Given the description of an element on the screen output the (x, y) to click on. 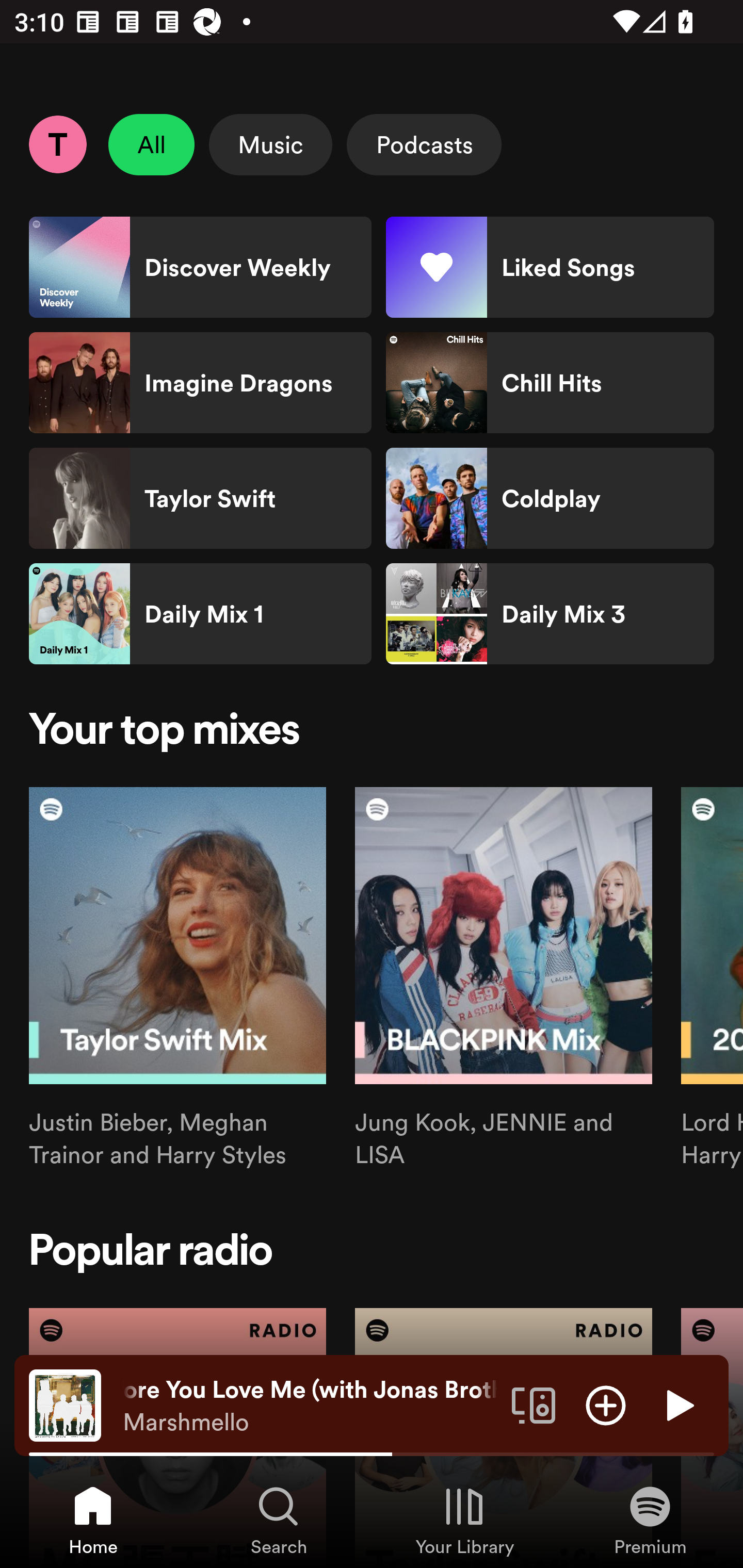
Profile (57, 144)
All Unselect All (151, 144)
Music Select Music (270, 144)
Podcasts Select Podcasts (423, 144)
Discover Weekly Shortcut Discover Weekly (199, 267)
Liked Songs Shortcut Liked Songs (549, 267)
Imagine Dragons Shortcut Imagine Dragons (199, 382)
Chill Hits Shortcut Chill Hits (549, 382)
Taylor Swift Shortcut Taylor Swift (199, 498)
Coldplay Shortcut Coldplay (549, 498)
Daily Mix 1 Shortcut Daily Mix 1 (199, 613)
Daily Mix 3 Shortcut Daily Mix 3 (549, 613)
The cover art of the currently playing track (64, 1404)
Connect to a device. Opens the devices menu (533, 1404)
Add item (605, 1404)
Play (677, 1404)
